Given the description of an element on the screen output the (x, y) to click on. 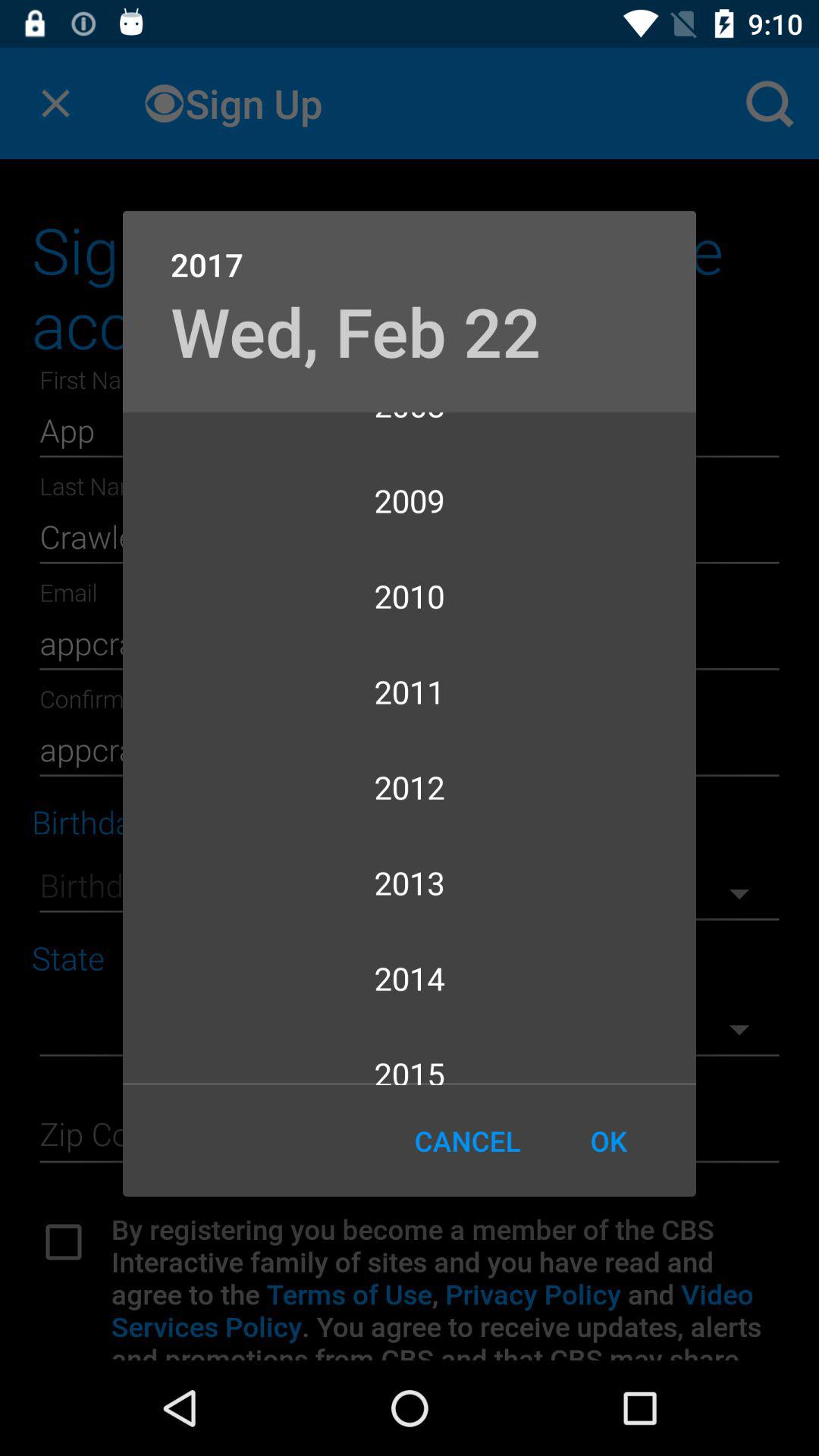
open icon below the 2017 item (355, 331)
